Given the description of an element on the screen output the (x, y) to click on. 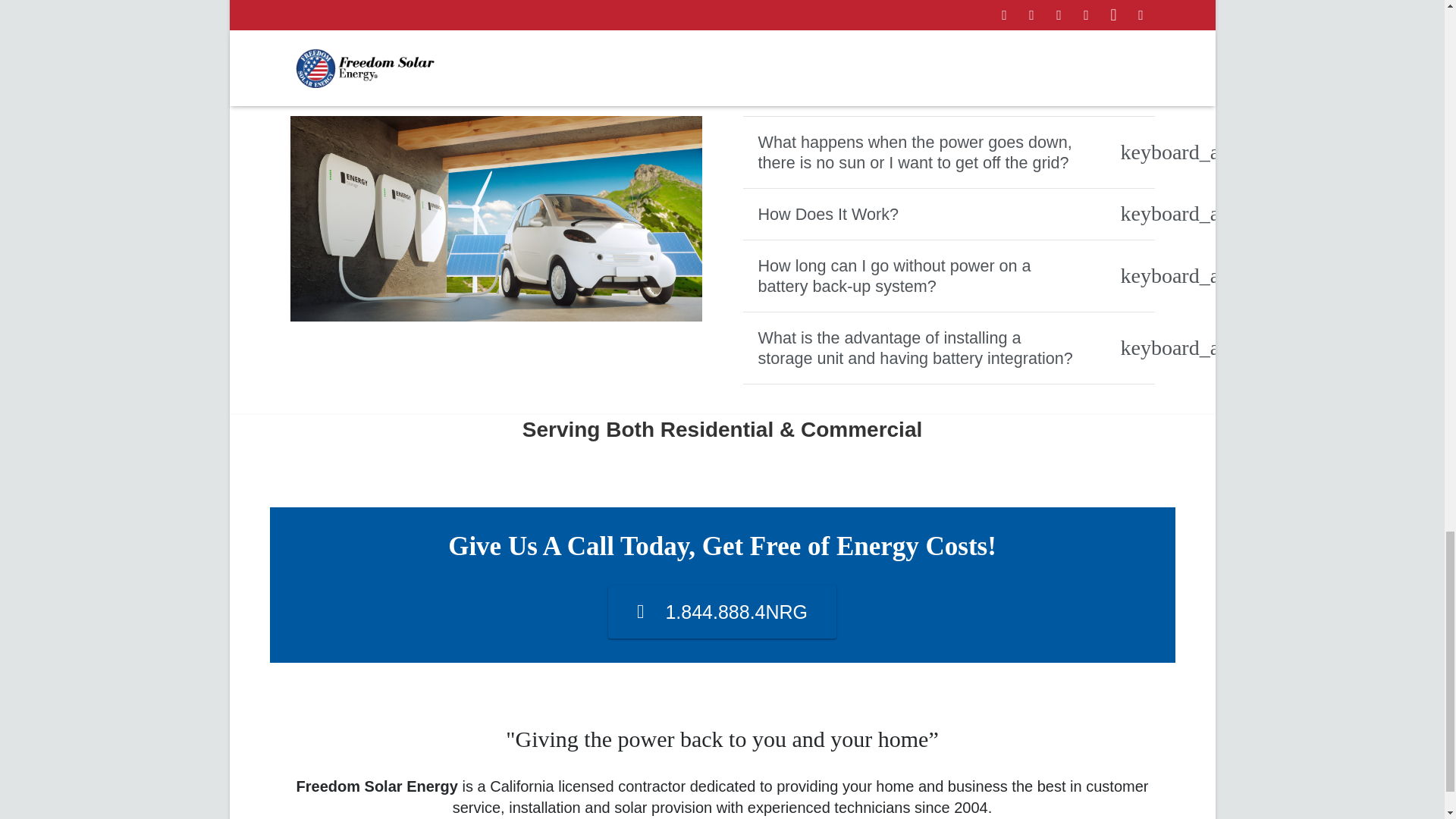
How Does It Work? (948, 214)
How long can I go without power on a battery back-up system? (948, 276)
1.844.888.4NRG (721, 611)
